Given the description of an element on the screen output the (x, y) to click on. 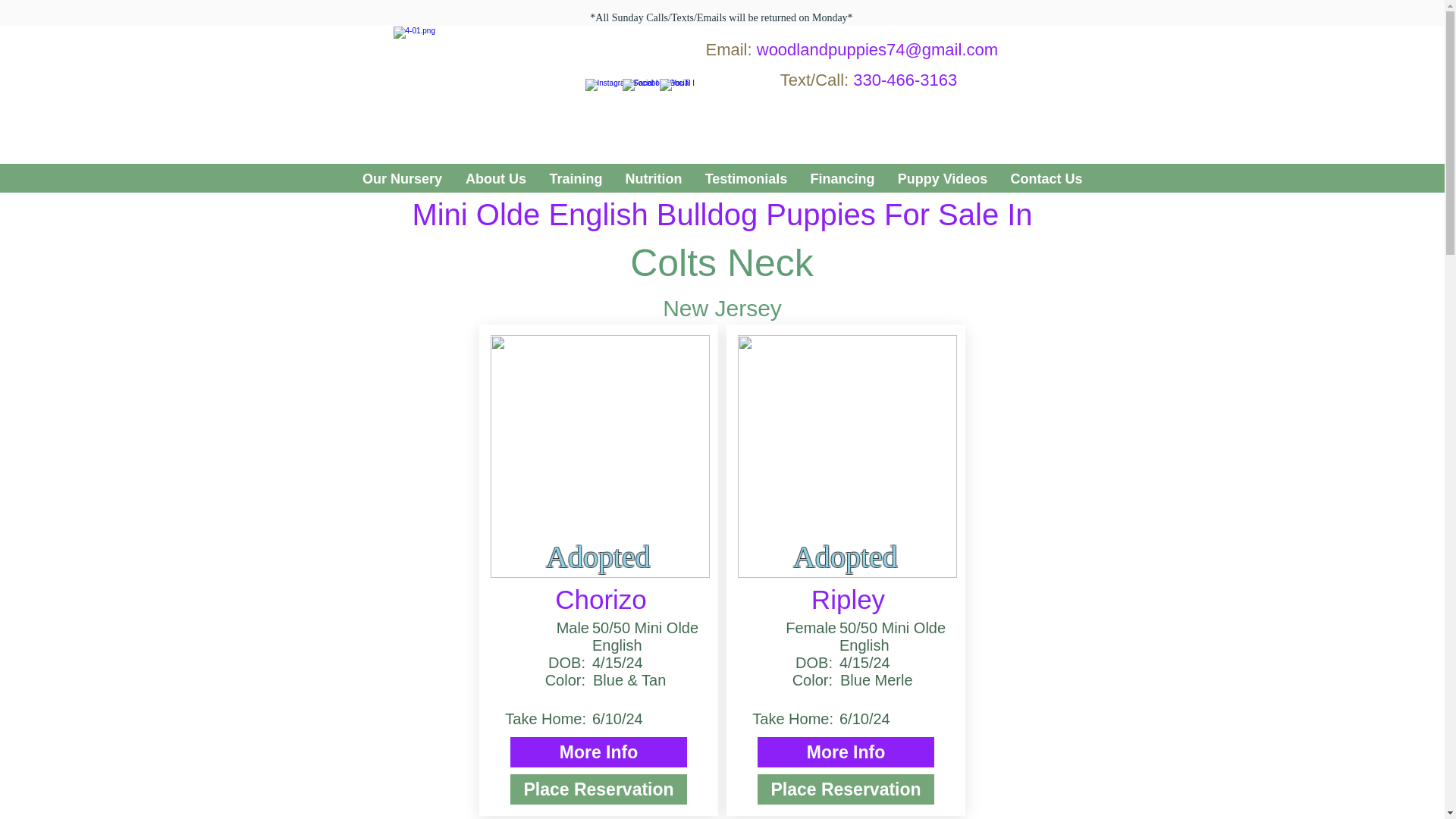
Buster.jpg (600, 456)
Testimonials (745, 178)
Training (576, 178)
330-466-3163 (904, 79)
Place Reservation (599, 788)
Our Nursery (401, 178)
Contact Us (1046, 178)
Nutrition (654, 178)
Sparkle.jpg (847, 456)
Financing (842, 178)
Place Reservation (845, 788)
About Us (494, 178)
Puppy Videos (941, 178)
